Given the description of an element on the screen output the (x, y) to click on. 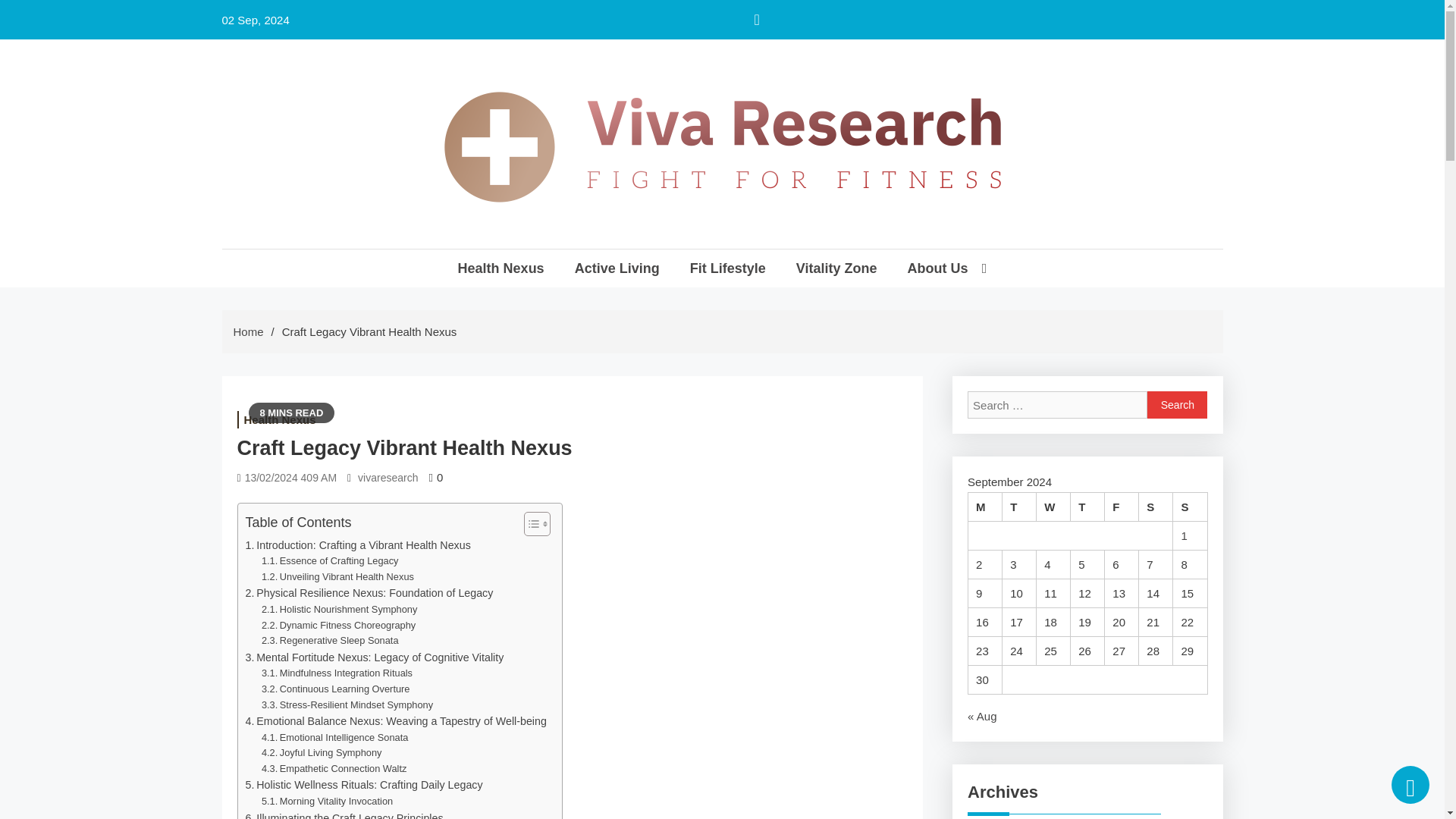
Continuous Learning Overture (336, 689)
Emotional Balance Nexus: Weaving a Tapestry of Well-being (396, 721)
Empathetic Connection Waltz (334, 769)
Morning Vitality Invocation (327, 801)
Regenerative Sleep Sonata (330, 641)
vivaresearch (387, 477)
Fit Lifestyle (727, 268)
Health Nexus (501, 268)
Stress-Resilient Mindset Symphony (347, 705)
Viva Research (435, 260)
